Given the description of an element on the screen output the (x, y) to click on. 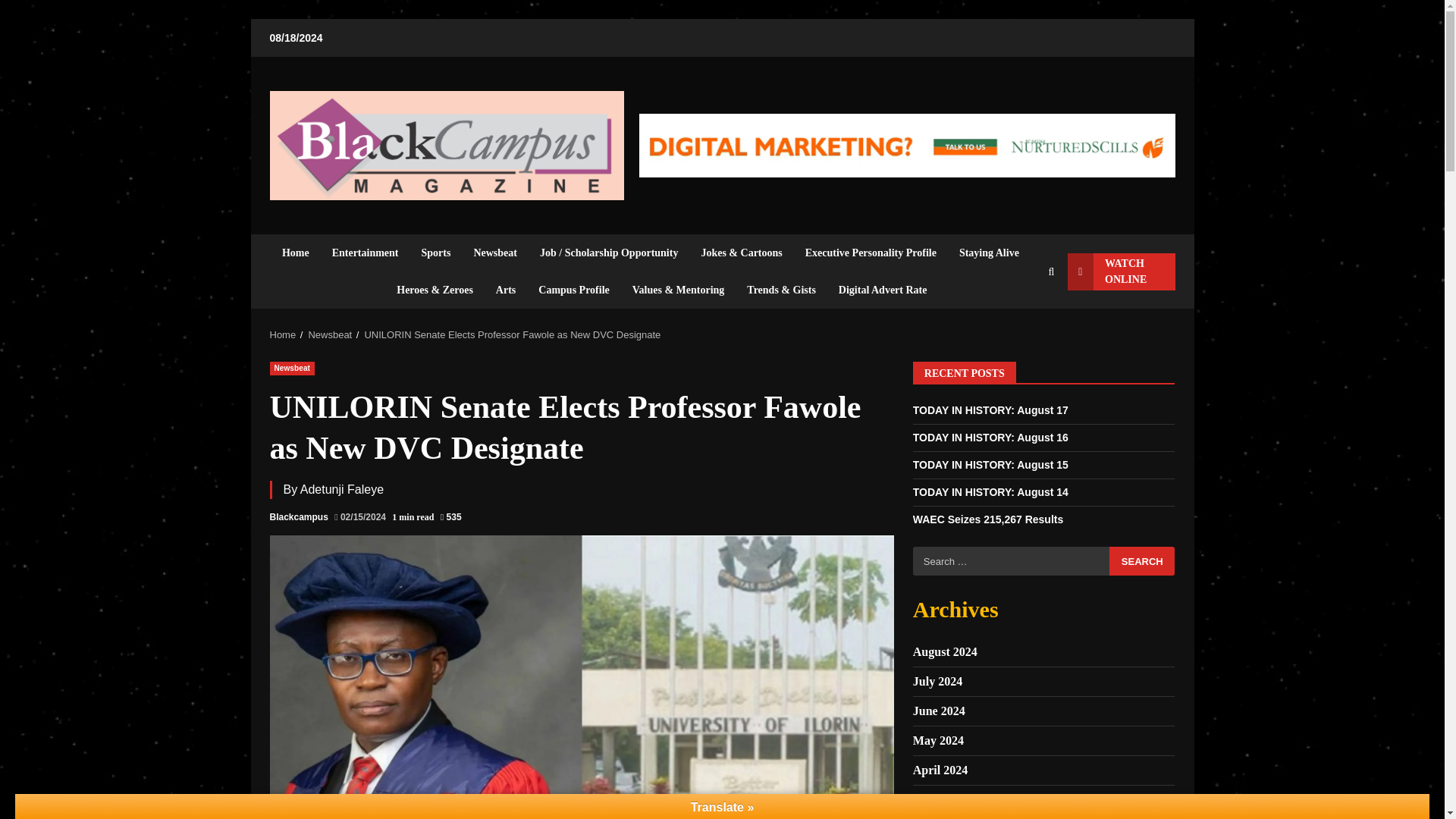
Search (1020, 322)
Newsbeat (494, 252)
Search (1141, 561)
UNILORIN Senate Elects Professor Fawole as New DVC Designate (512, 334)
Home (301, 252)
535 (451, 516)
WATCH ONLINE (1120, 271)
Executive Personality Profile (870, 252)
Arts (505, 289)
